Given the description of an element on the screen output the (x, y) to click on. 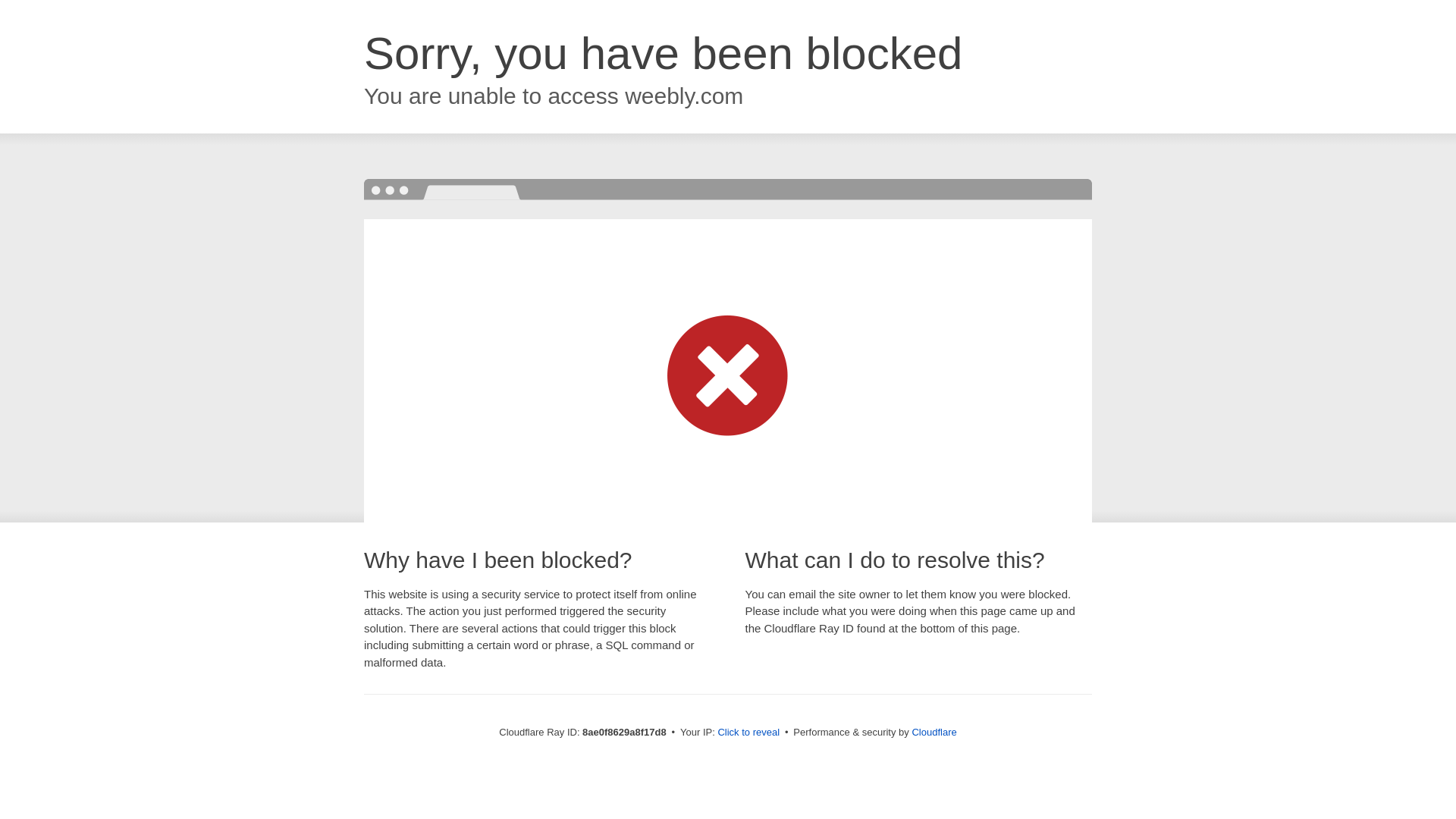
Click to reveal (747, 732)
Cloudflare (933, 731)
